Given the description of an element on the screen output the (x, y) to click on. 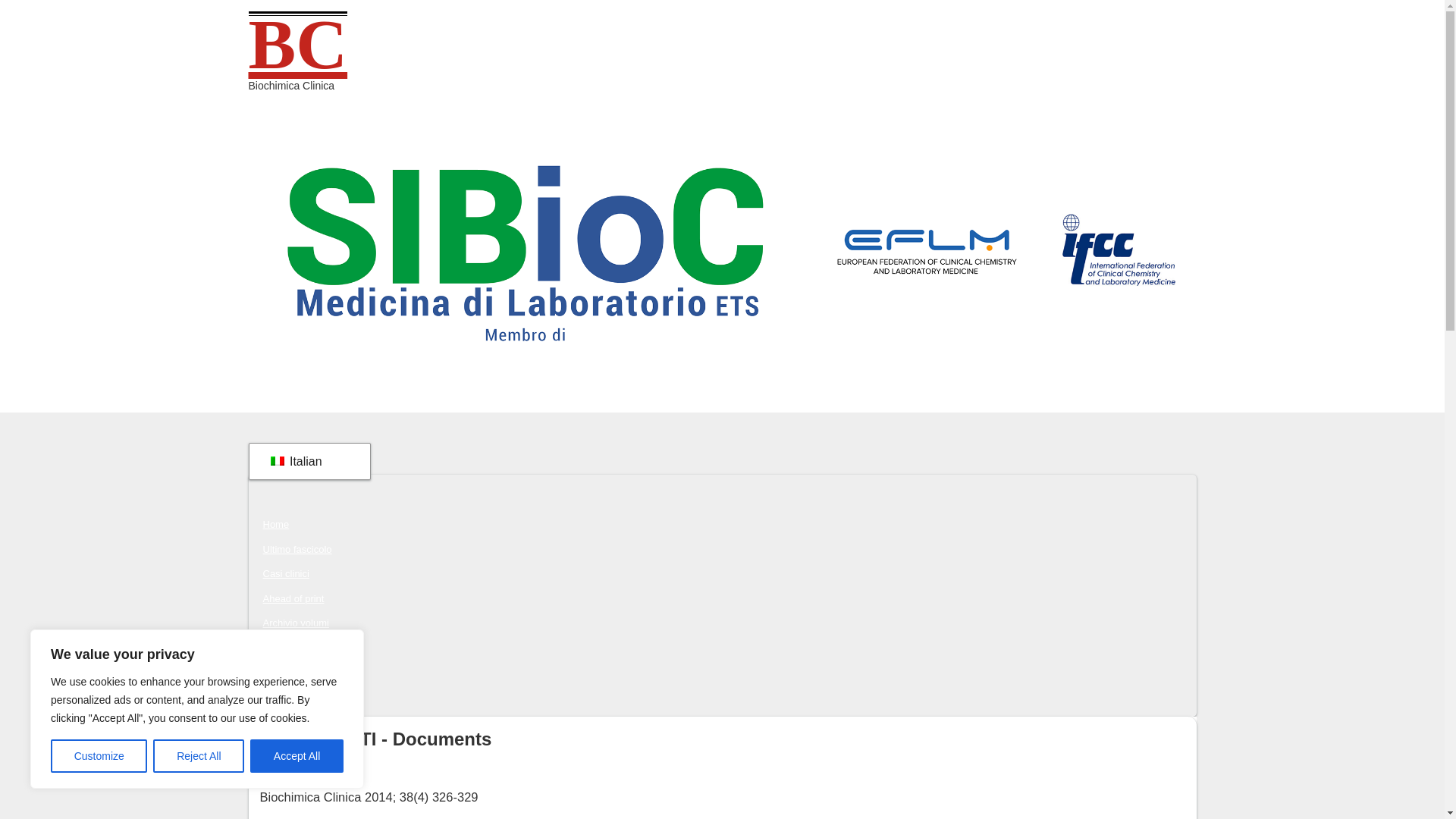
Home (275, 524)
Ahead of print (293, 598)
Italian (307, 461)
Cerca (275, 696)
Italian (307, 461)
Accept All (296, 756)
Casi clinici (285, 573)
Archivio volumi (295, 622)
Customize (98, 756)
Italian (276, 461)
Norme Autori (291, 671)
Reject All (198, 756)
Ultimo fascicolo (296, 548)
BC (297, 43)
Sottometti un articolo (308, 647)
